Given the description of an element on the screen output the (x, y) to click on. 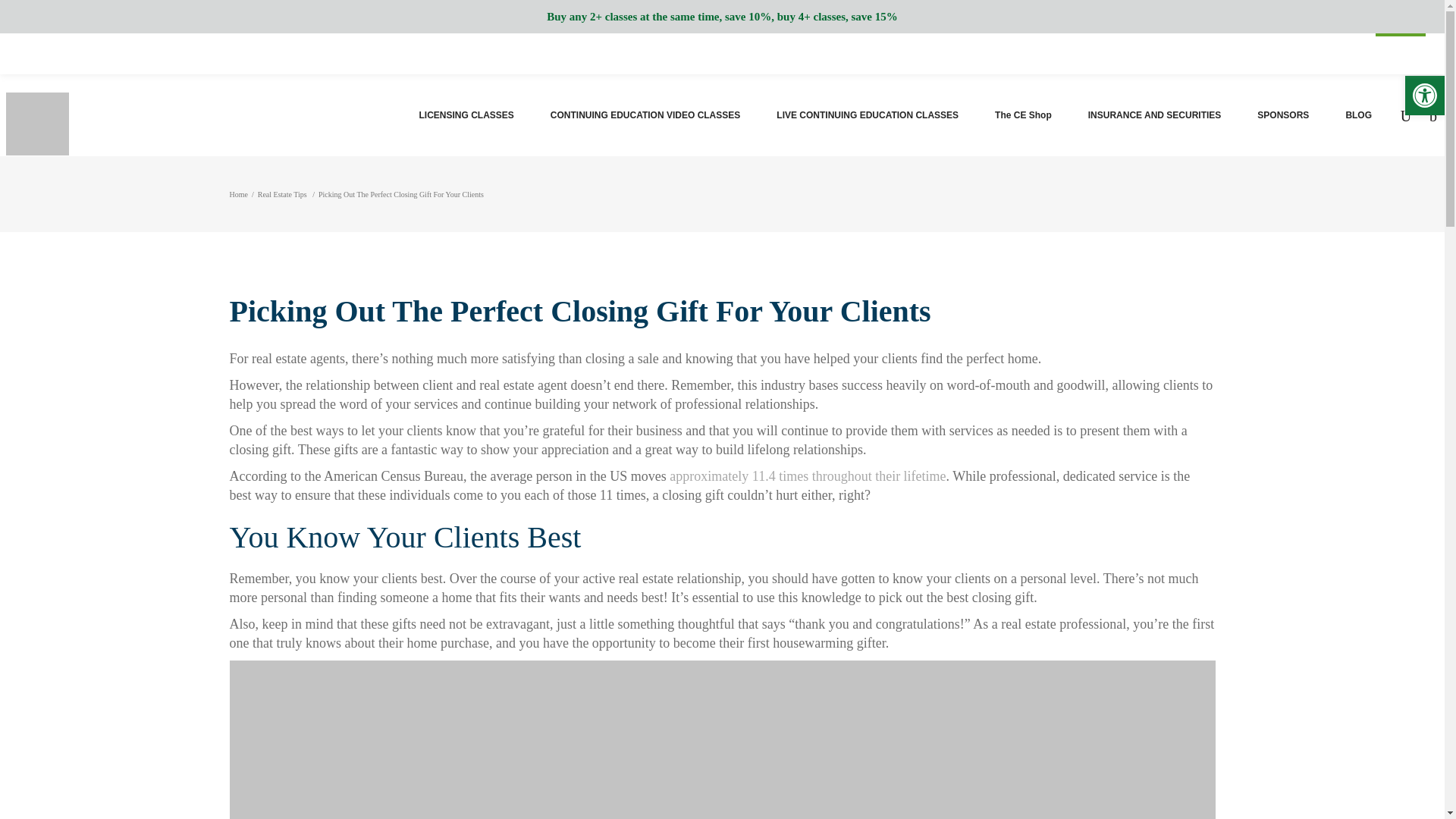
LICENSING CLASSES (465, 115)
The CE Shop (1023, 115)
My Account (1265, 53)
Accessibility Tools (1424, 95)
CONTINUING EDUCATION VIDEO CLASSES (645, 115)
LIVE CONTINUING EDUCATION CLASSES (867, 115)
Contact (1376, 53)
INSURANCE AND SECURITIES (1155, 115)
SPONSORS (1282, 115)
About (1326, 53)
